Given the description of an element on the screen output the (x, y) to click on. 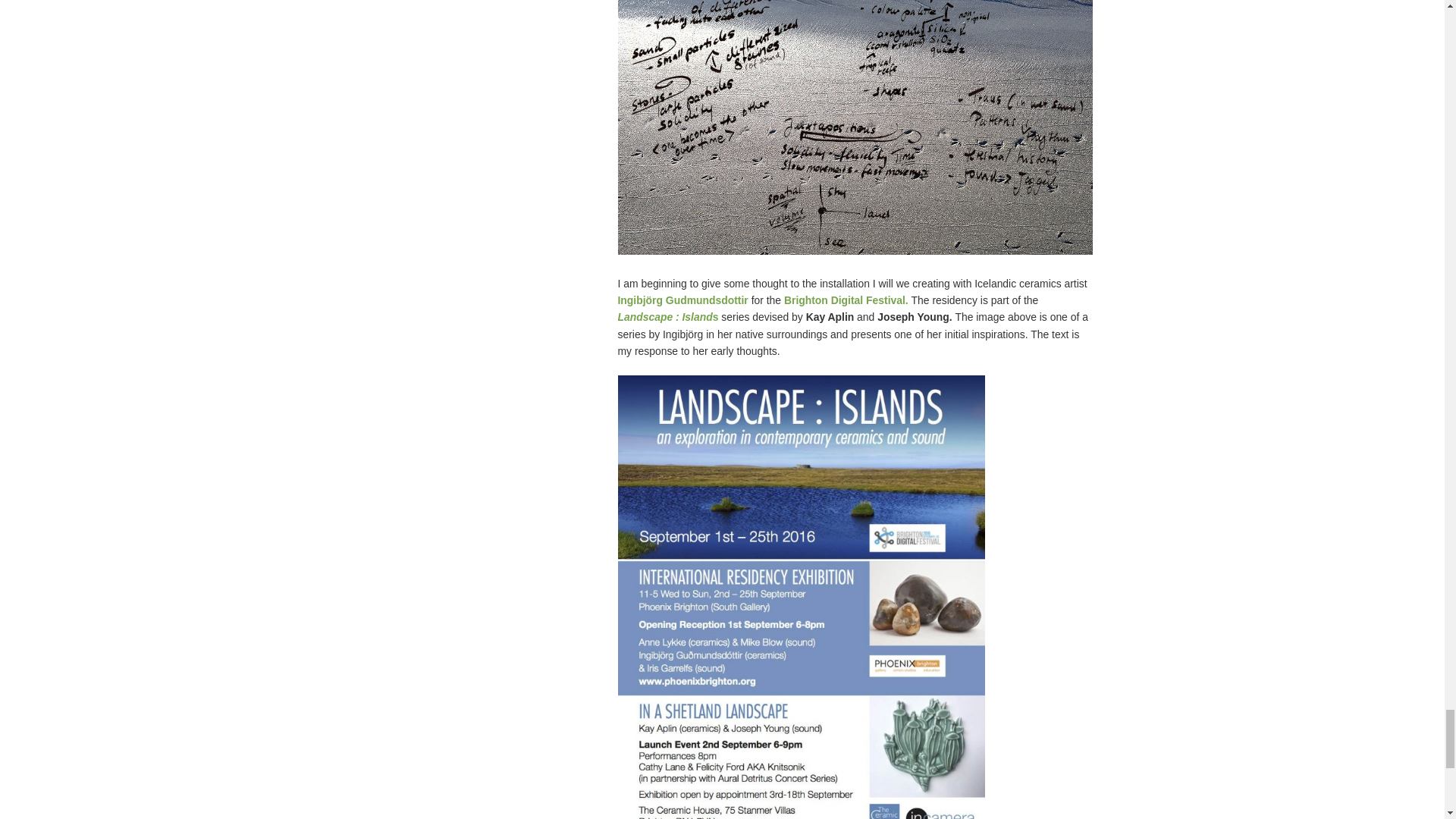
Landscape : Islands (668, 316)
Brighton Digital Festival. (846, 300)
